Given the description of an element on the screen output the (x, y) to click on. 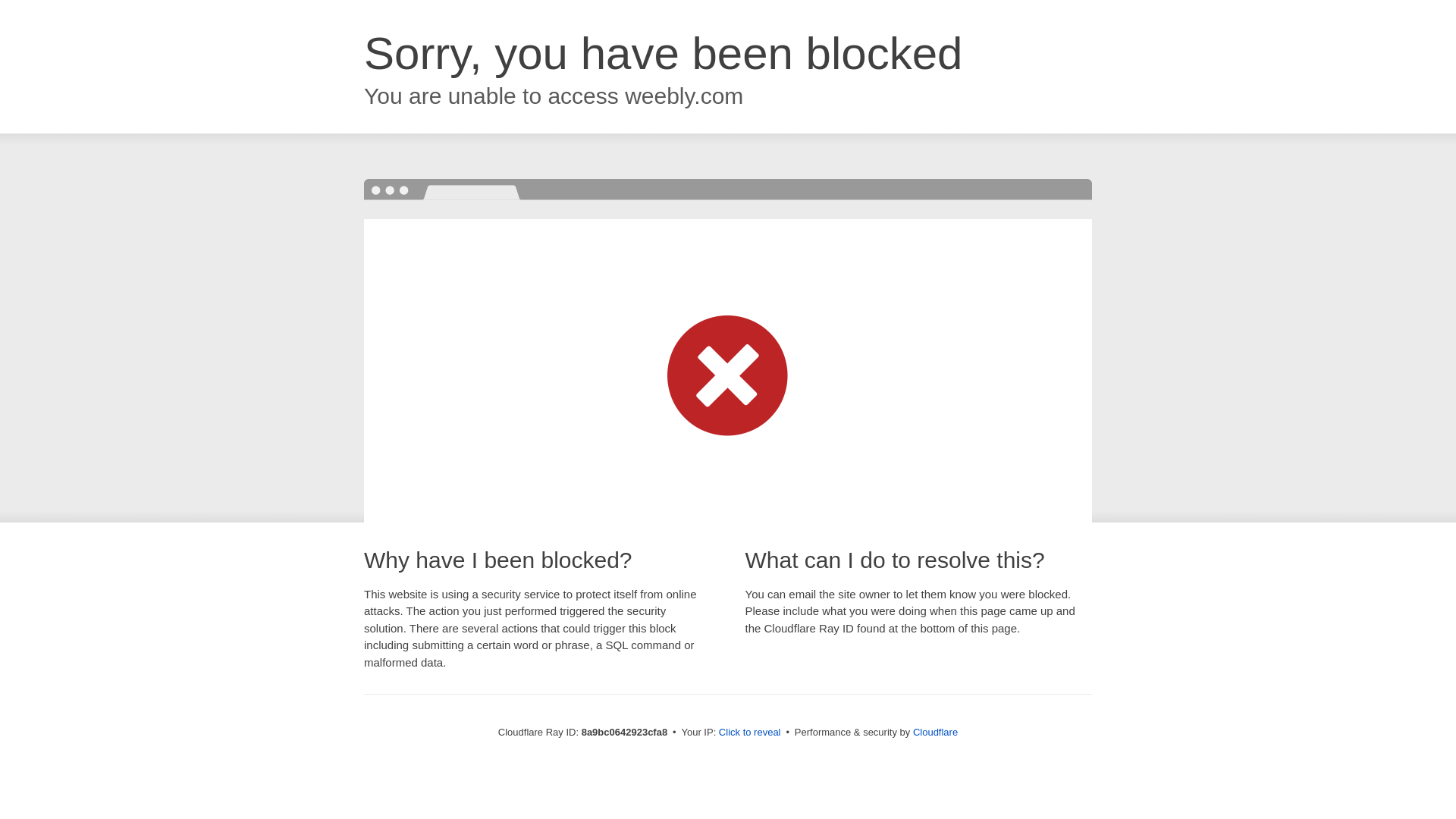
Cloudflare (935, 731)
Click to reveal (749, 732)
